Given the description of an element on the screen output the (x, y) to click on. 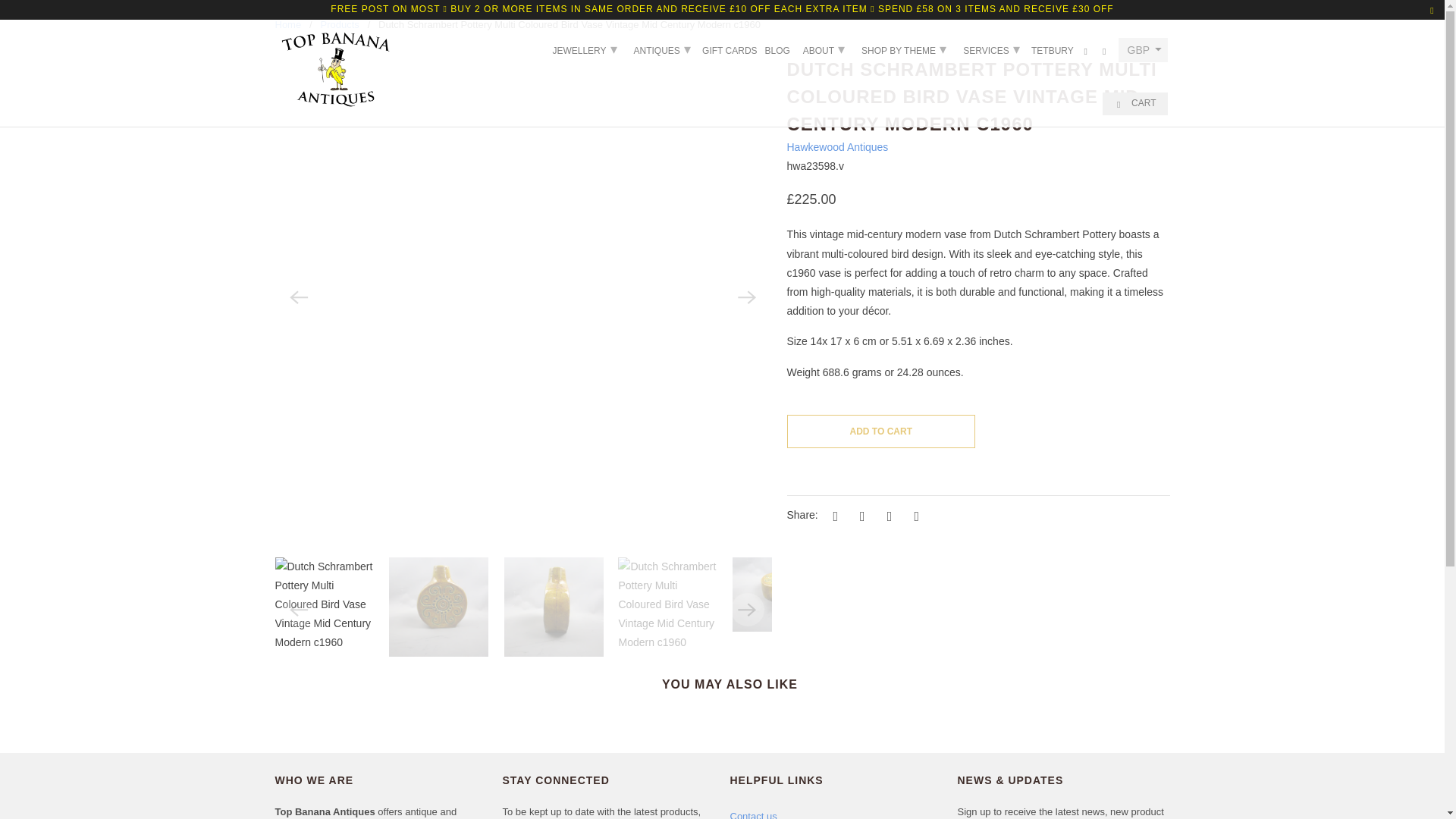
Products (339, 24)
Hawkewood Antiques (837, 146)
Top Banana Antiques (288, 24)
Email this to a friend (914, 515)
Share this on Twitter (833, 515)
Share this on Pinterest (887, 515)
Share this on Facebook (859, 515)
